Given the description of an element on the screen output the (x, y) to click on. 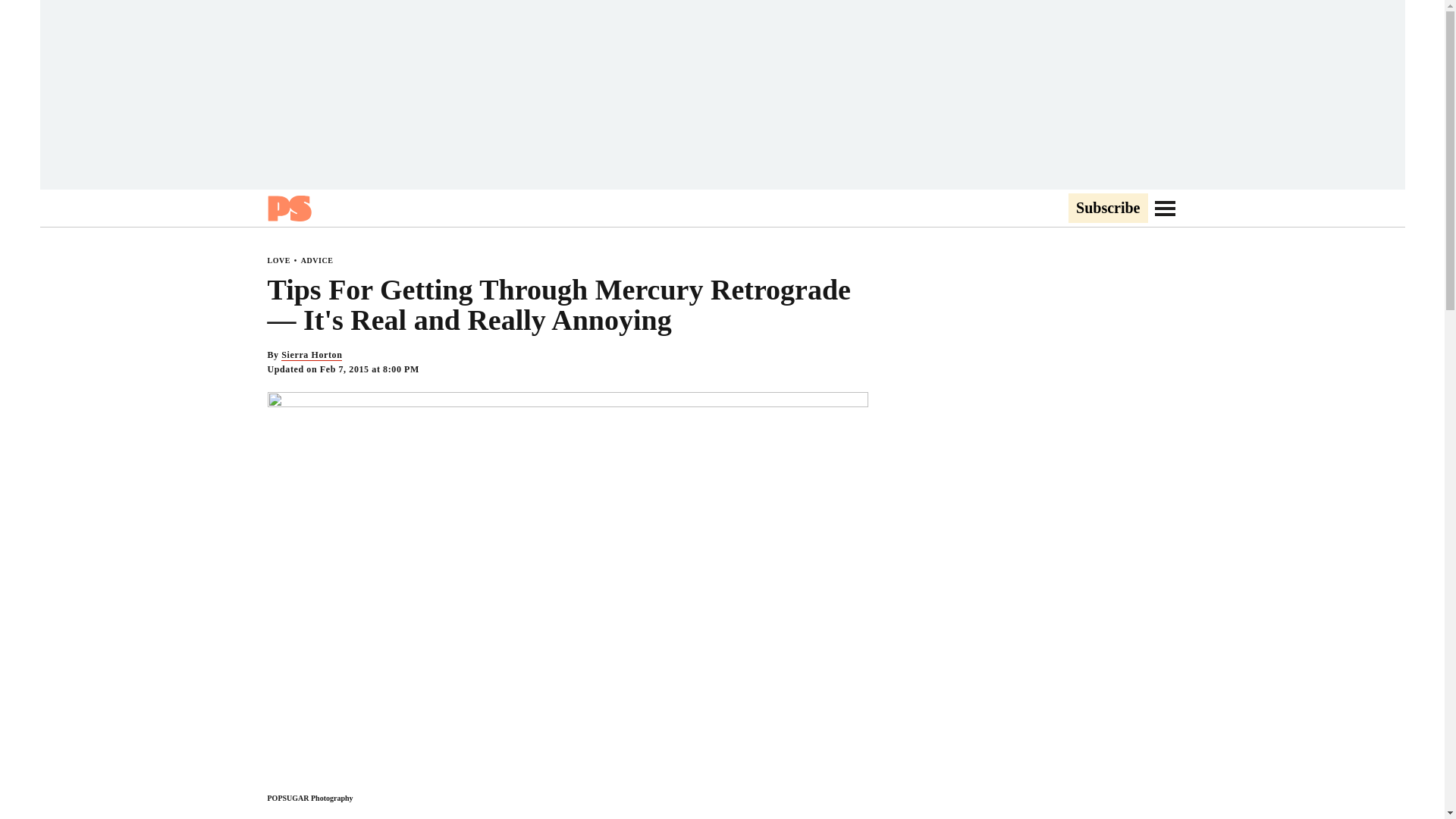
Sierra Horton (311, 355)
Subscribe (1107, 208)
Go to Navigation (1164, 207)
ADVICE (317, 260)
Popsugar (288, 208)
Go to Navigation (1164, 207)
LOVE (277, 260)
